Given the description of an element on the screen output the (x, y) to click on. 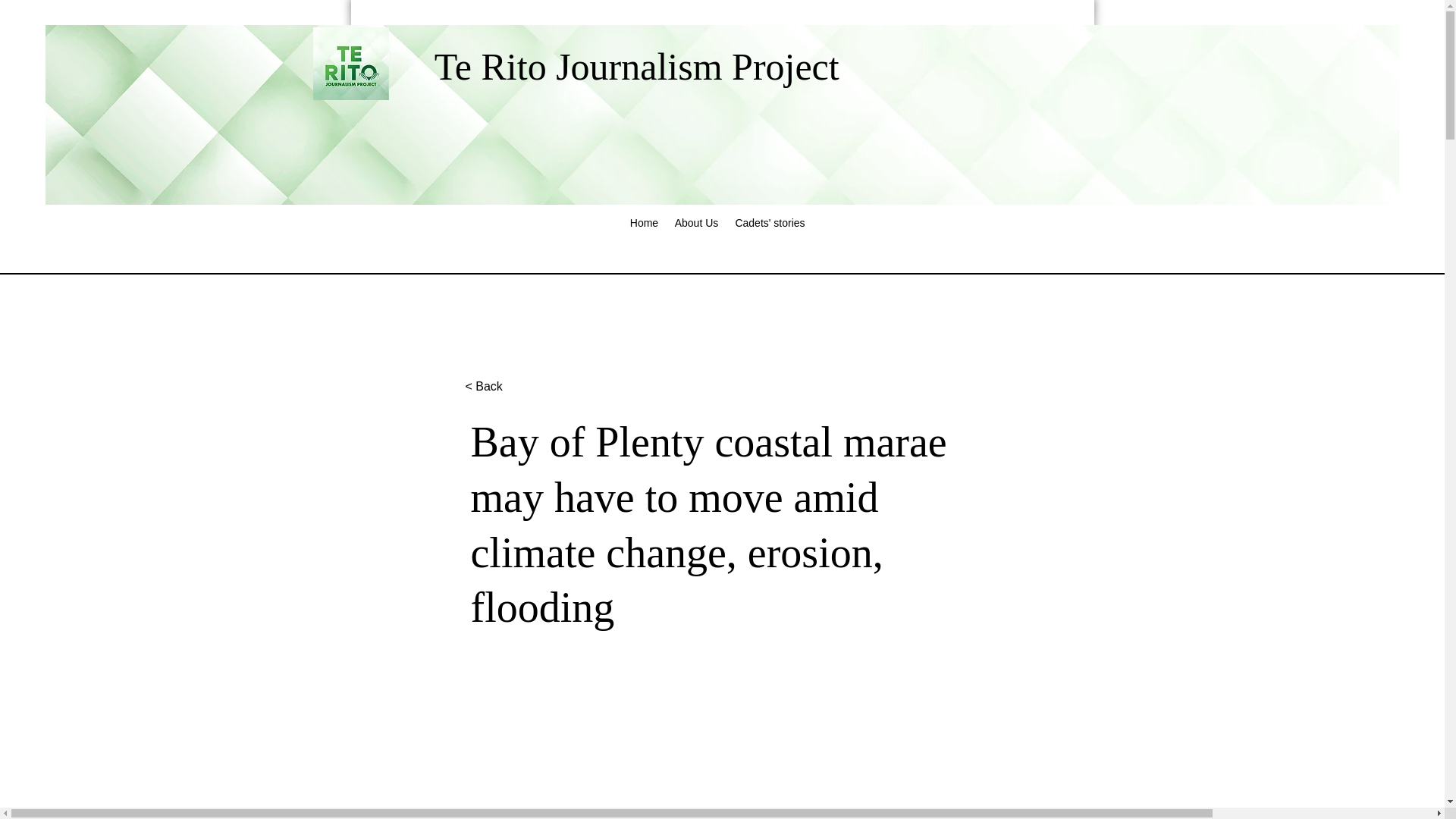
Home (643, 218)
About Us (695, 218)
Cadets' stories (769, 218)
